Given the description of an element on the screen output the (x, y) to click on. 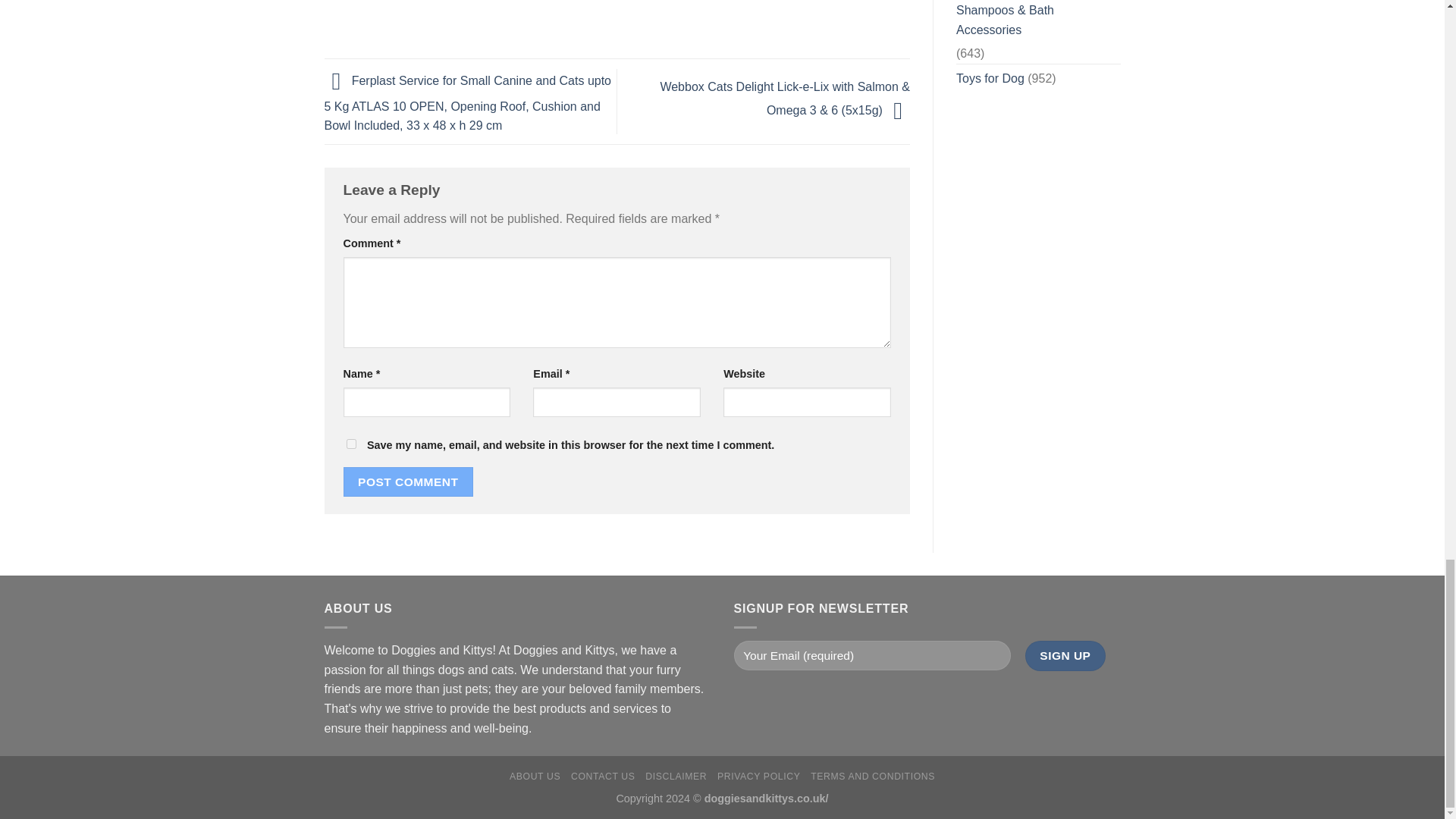
yes (350, 443)
Post Comment (407, 481)
Sign Up (1065, 655)
